Given the description of an element on the screen output the (x, y) to click on. 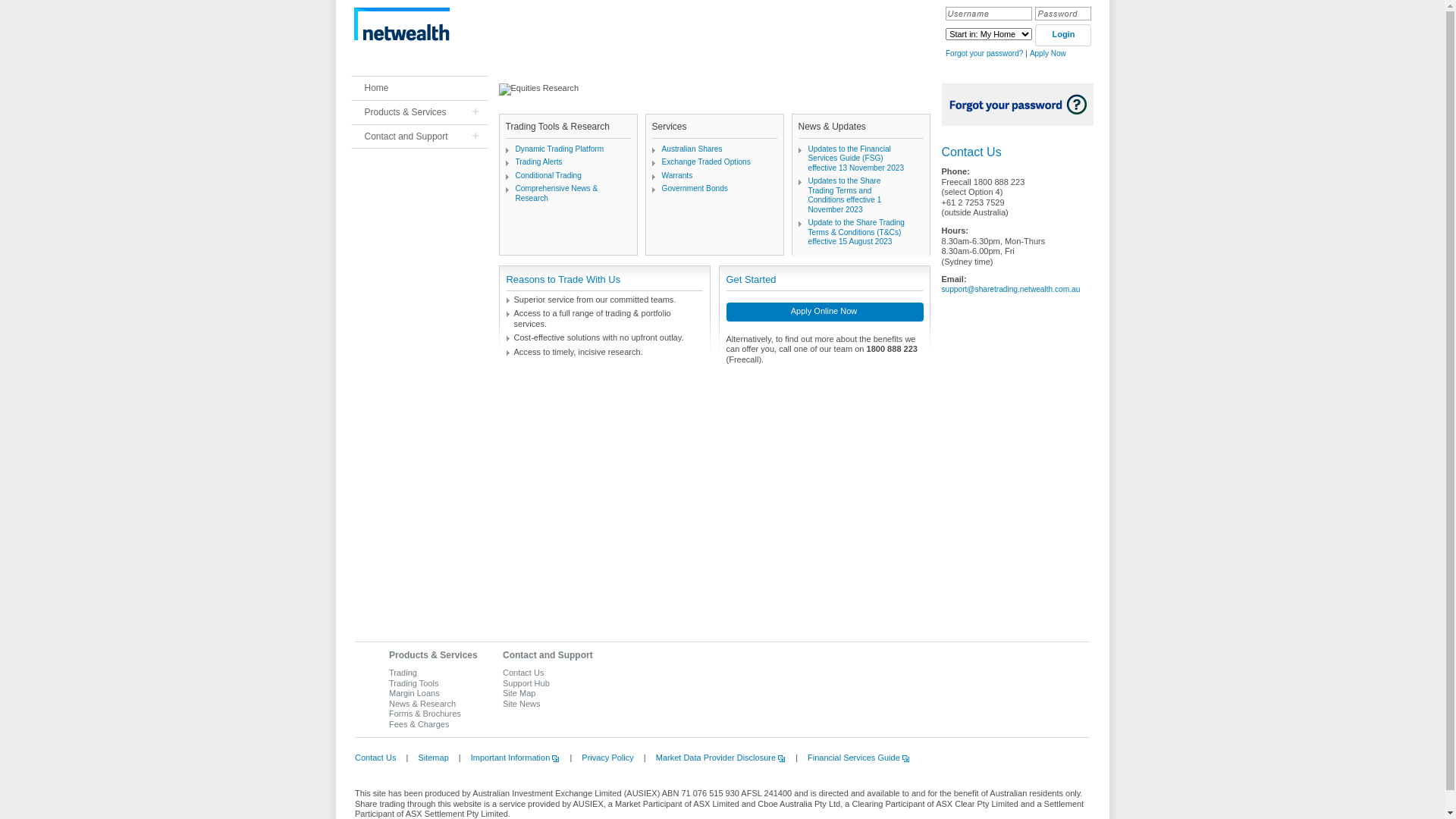
Forgot your password? Element type: text (983, 53)
Market Data Provider Disclosure Element type: text (716, 757)
Warrants Element type: text (676, 175)
Government Bonds Element type: text (694, 188)
News & Research Element type: text (422, 703)
Apply Online Now Element type: text (824, 313)
Comprehensive News & Research Element type: text (556, 193)
Financial Services Guide Element type: text (854, 757)
Login Element type: text (1063, 35)
Conditional Trading Element type: text (548, 175)
Fees & Charges Element type: text (418, 723)
Australian Shares Element type: text (691, 148)
Apply Now Element type: text (1047, 53)
Site News Element type: text (521, 703)
support@sharetrading.netwealth.com.au Element type: text (1010, 289)
  Element type: text (426, 24)
Home Element type: text (418, 88)
Site Map Element type: text (518, 692)
Privacy Policy Element type: text (603, 757)
Contact Us Element type: text (522, 672)
Products & Services Element type: text (433, 654)
Trading Element type: text (403, 672)
Important Information Element type: text (511, 757)
Trading Tools Element type: text (413, 682)
Margin Loans Element type: text (414, 692)
Contact and Support Element type: text (418, 136)
Trading Alerts Element type: text (538, 161)
Forms & Brochures Element type: text (425, 713)
Exchange Traded Options Element type: text (705, 161)
Sitemap Element type: text (429, 757)
Support Hub Element type: text (525, 682)
Dynamic Trading Platform Element type: text (559, 148)
Contact and Support Element type: text (547, 654)
Contact Us Element type: text (374, 757)
Products & Services Element type: text (418, 112)
